Given the description of an element on the screen output the (x, y) to click on. 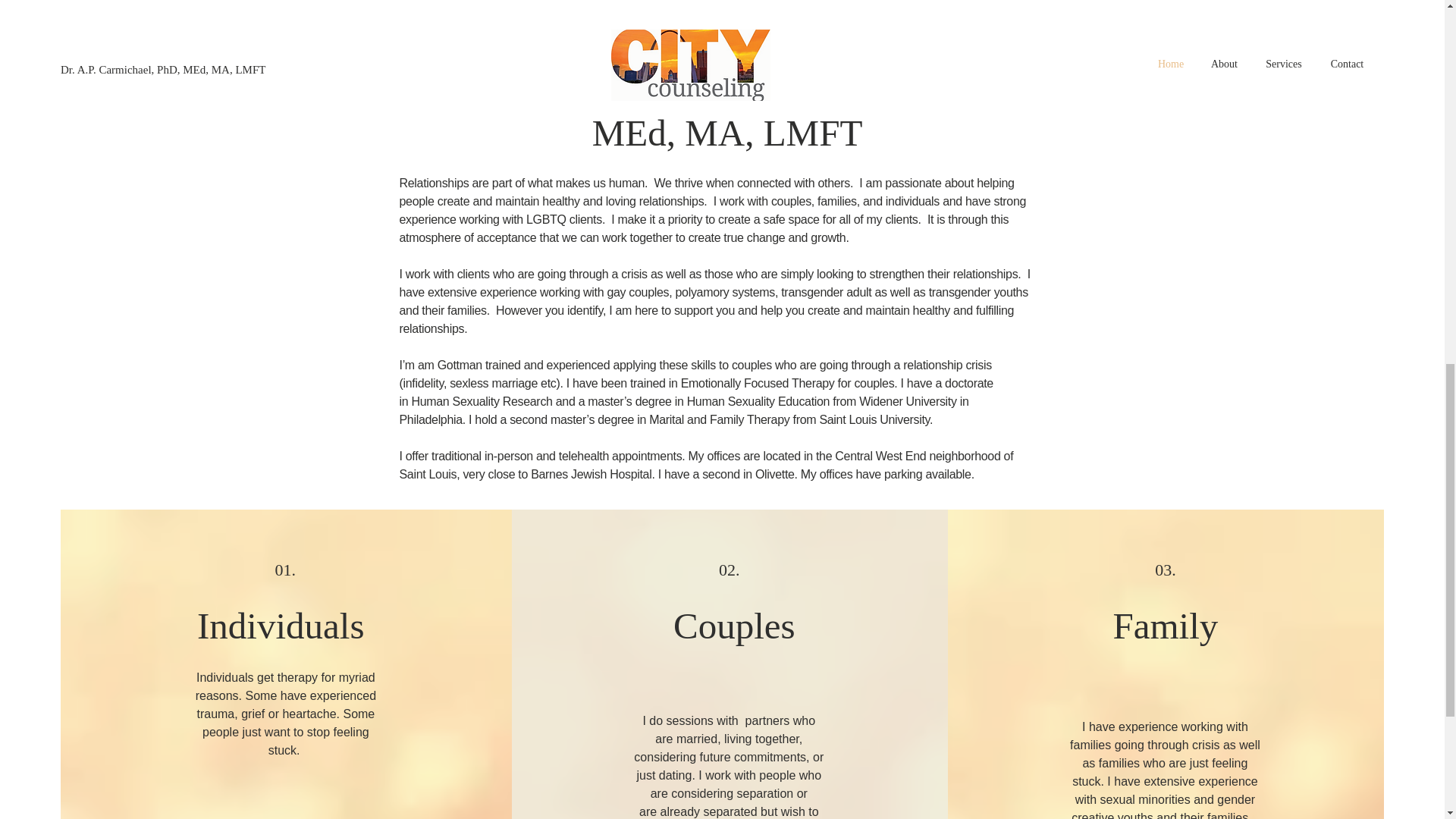
Couples (733, 626)
Individuals  (285, 626)
Family (1165, 626)
